Given the description of an element on the screen output the (x, y) to click on. 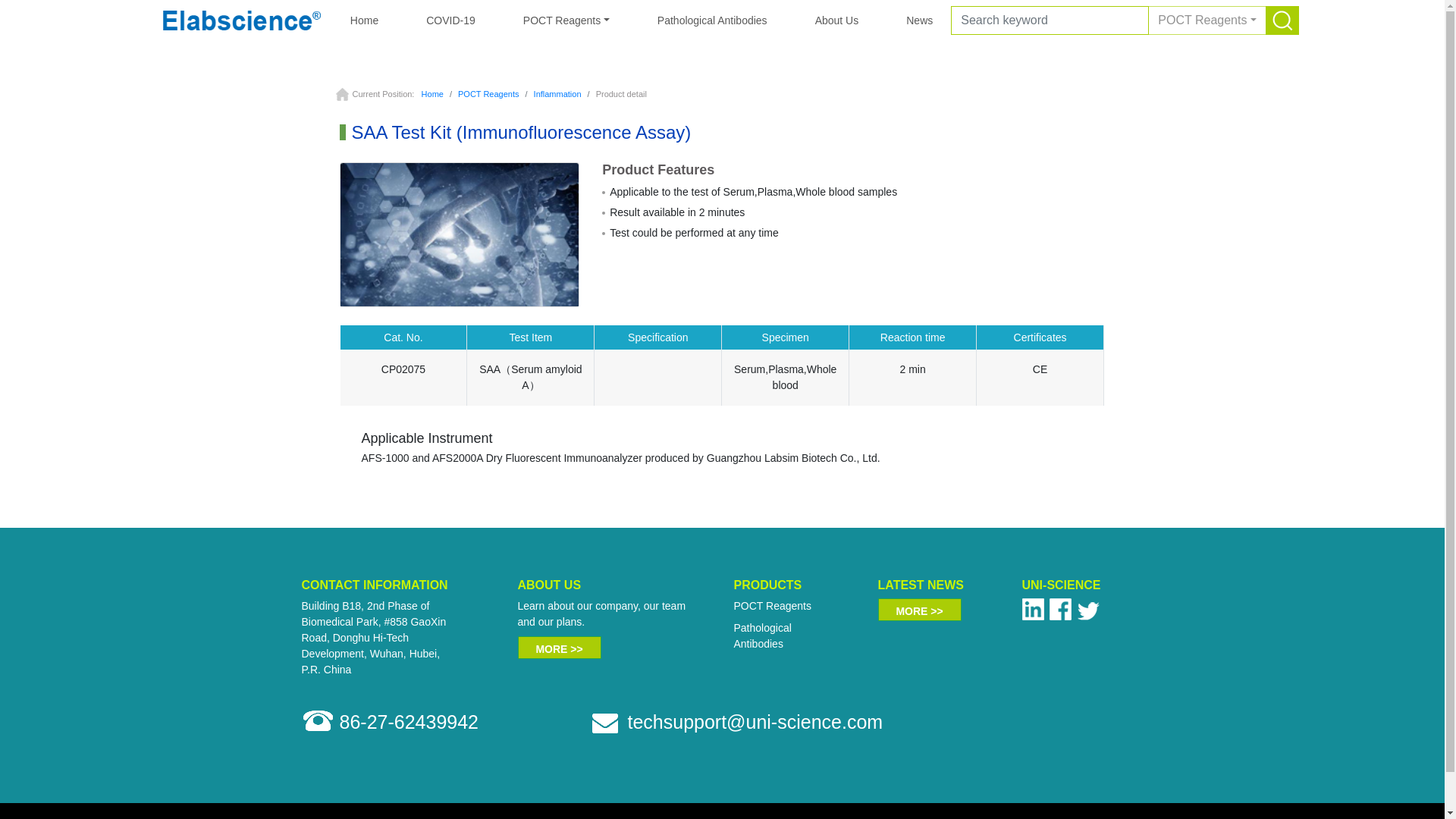
About Us (836, 19)
Home (363, 19)
COVID-19 (450, 19)
Pathological Antibodies (711, 19)
POCT Reagents (1206, 20)
86-27-62439942 (409, 721)
POCT Reagents (565, 19)
Home (433, 93)
News (919, 19)
POCT Reagents (771, 605)
